Given the description of an element on the screen output the (x, y) to click on. 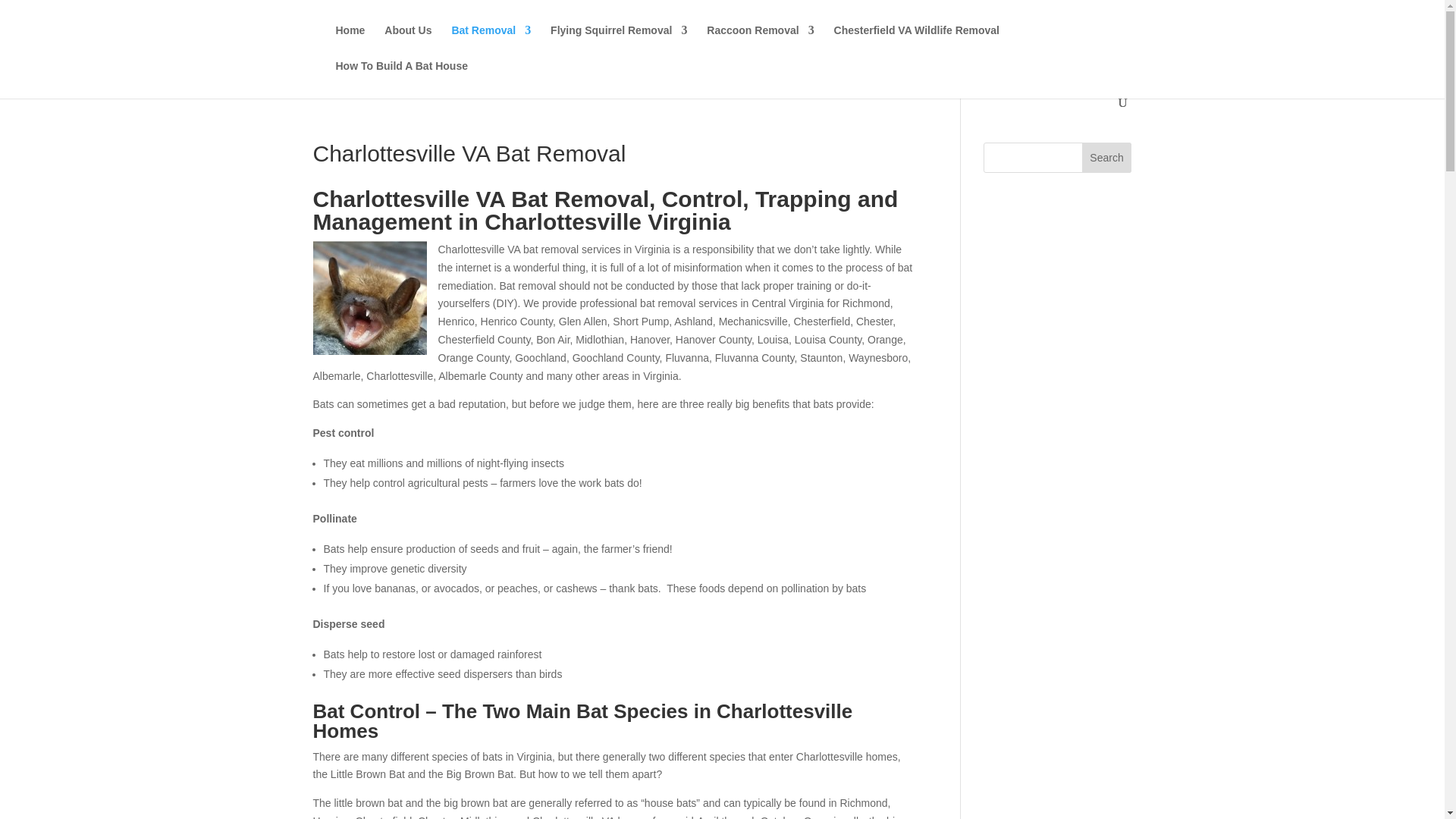
Bat Removal (491, 42)
About Us (407, 42)
Flying Squirrel Removal (618, 42)
Search (1106, 157)
Home (349, 42)
